Given the description of an element on the screen output the (x, y) to click on. 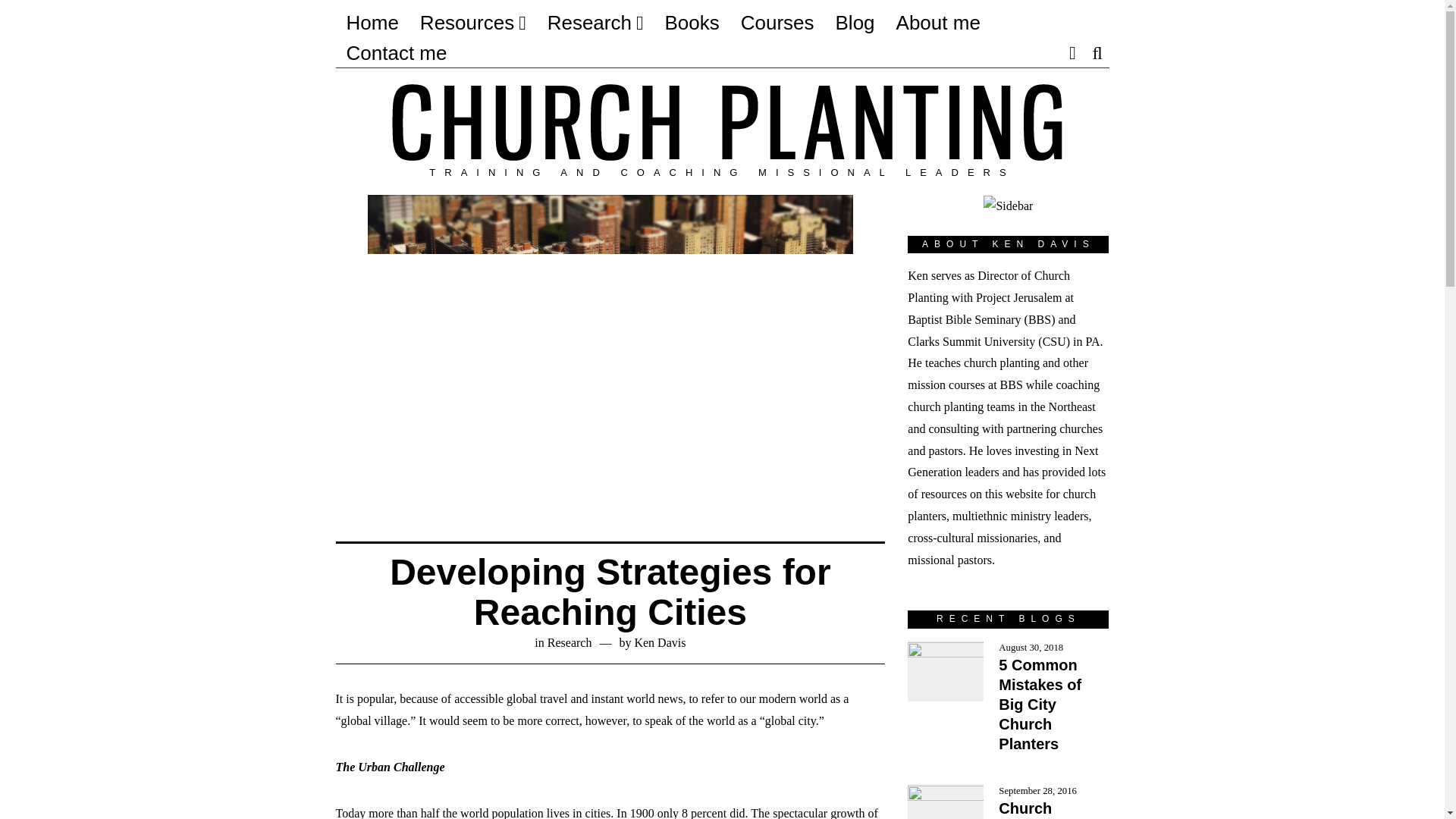
Research (595, 22)
Courses (777, 22)
Resources (473, 22)
Research (569, 642)
Blog (855, 22)
Contact me (395, 52)
About me (938, 22)
Books (691, 22)
Home (371, 22)
Ken Davis (659, 642)
